Given the description of an element on the screen output the (x, y) to click on. 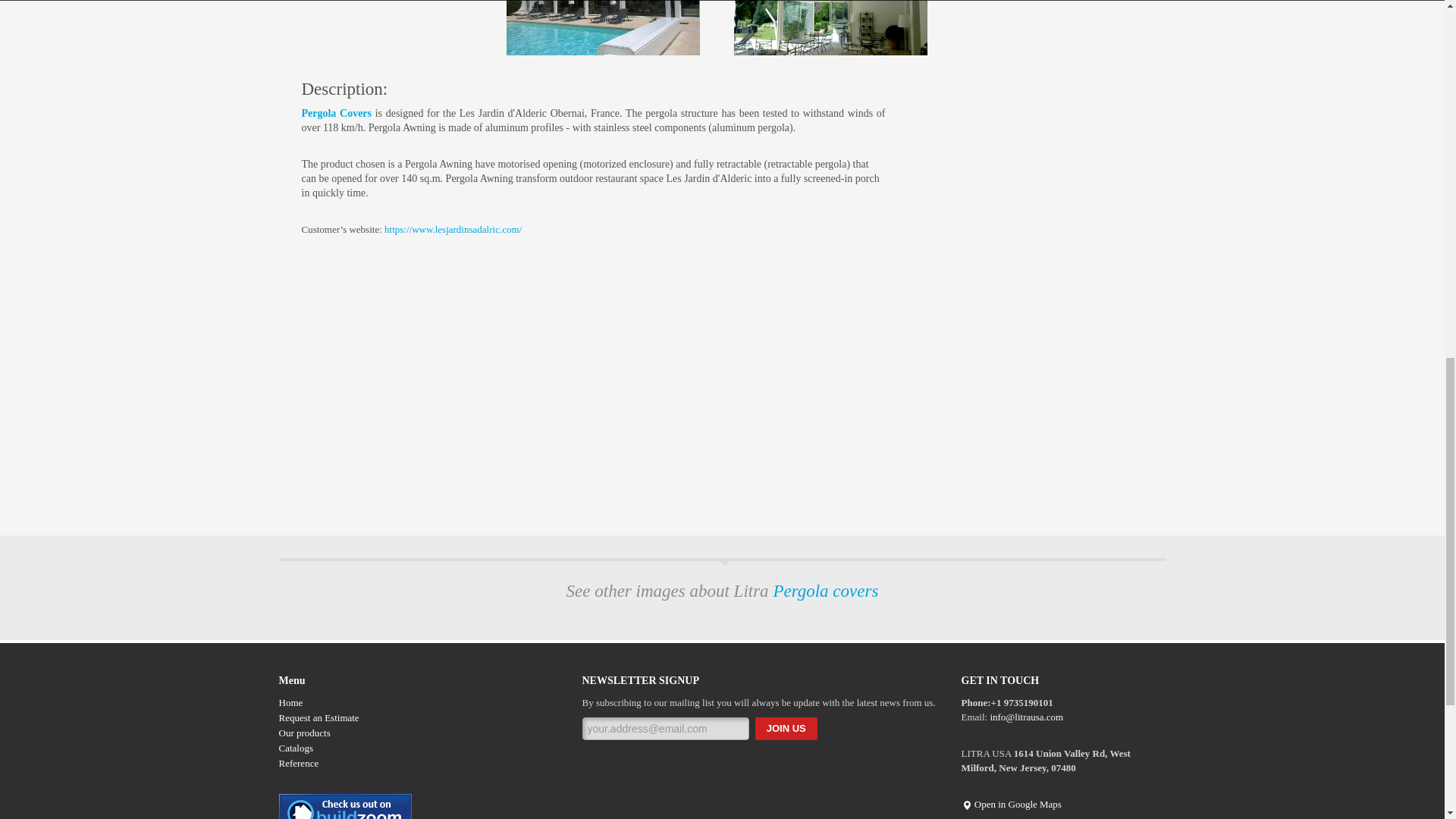
JOIN US (785, 728)
Litra Retractable Pergola Covers for Les Jardin d'Alderic (830, 27)
Litra Retractable Pergola Covers for Les Jardin d'Alderic (603, 27)
BuildZoom Verified Badge (345, 811)
new tab (452, 229)
